Given the description of an element on the screen output the (x, y) to click on. 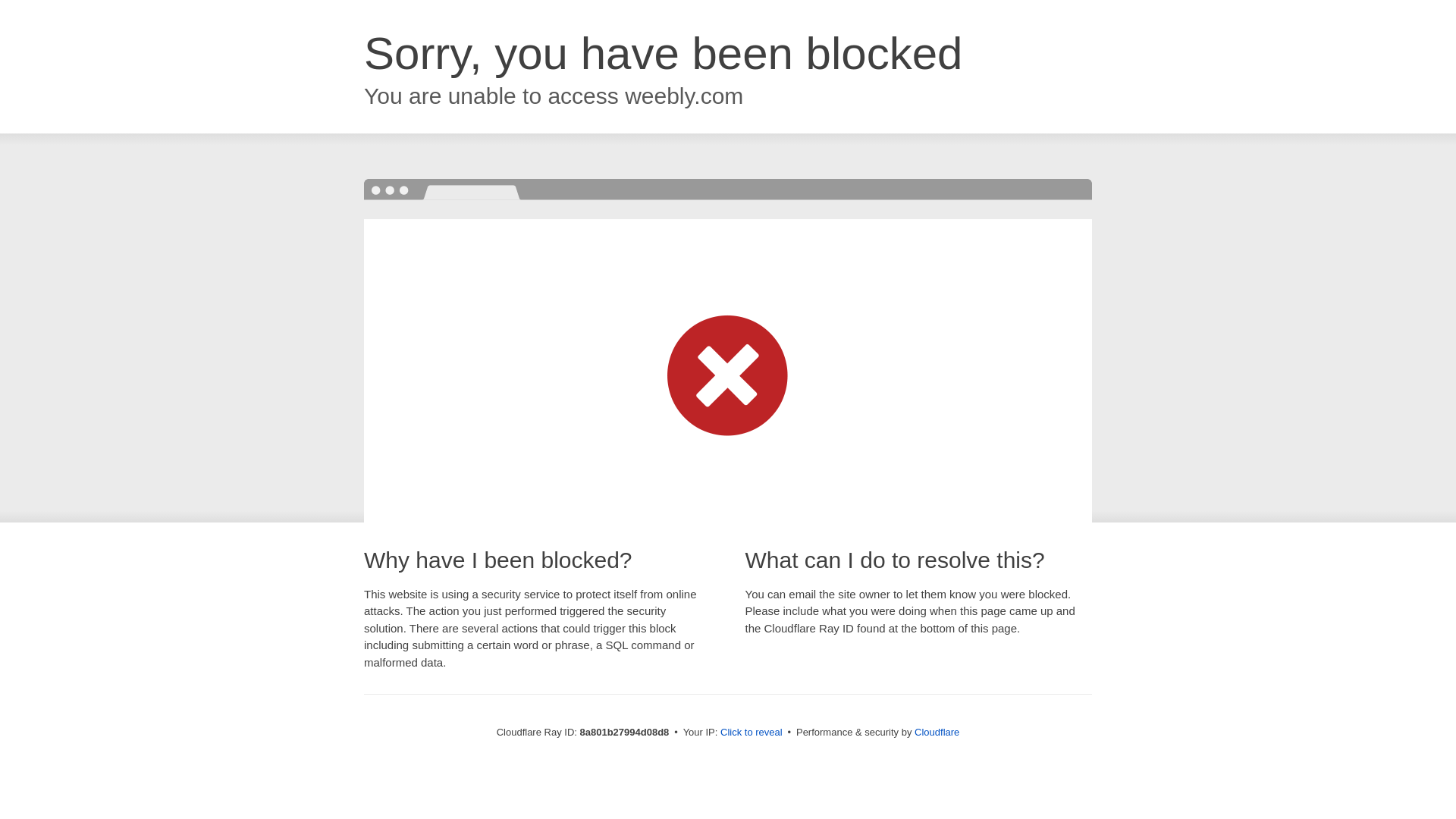
Cloudflare (936, 731)
Click to reveal (751, 732)
